Given the description of an element on the screen output the (x, y) to click on. 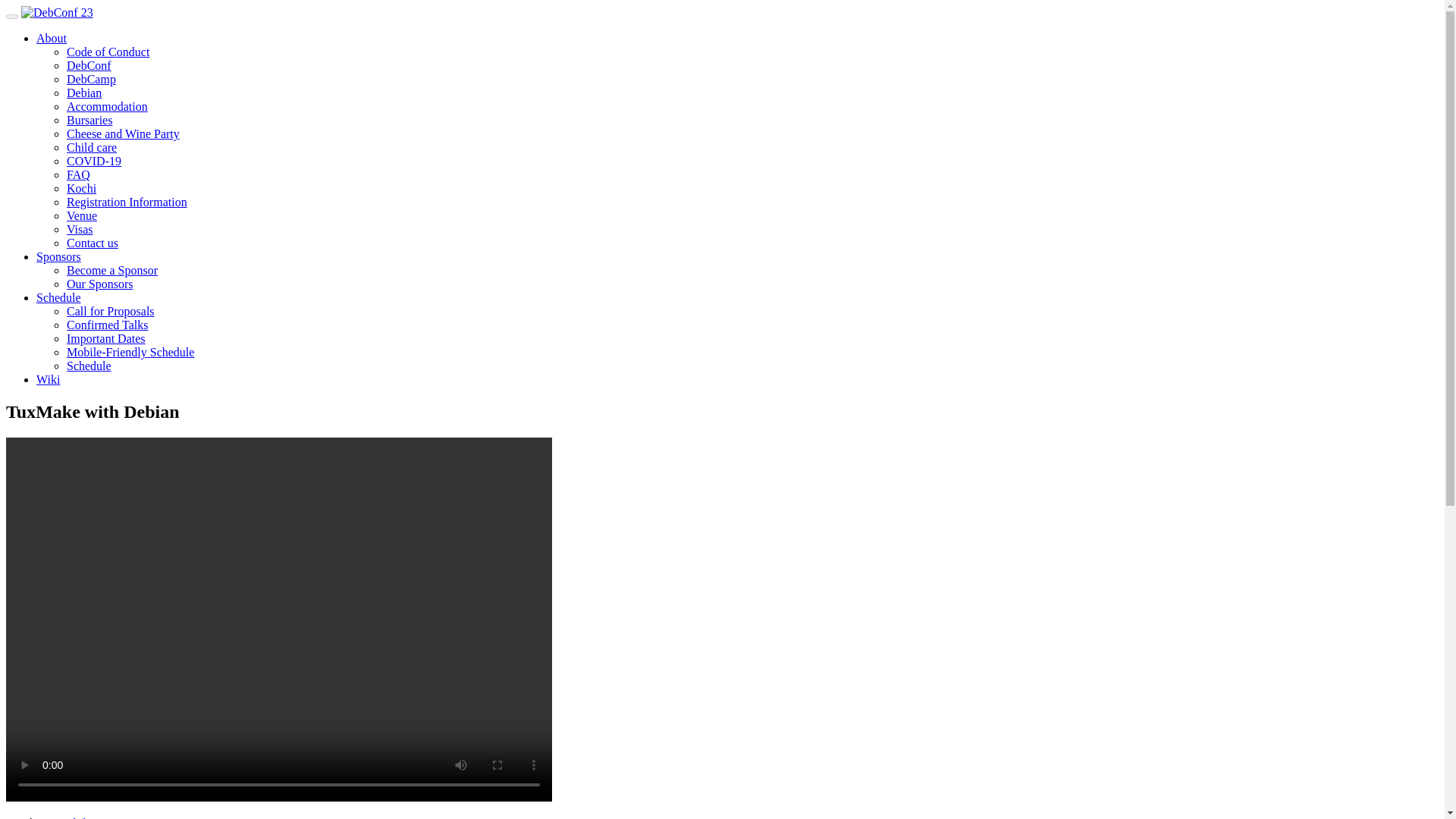
Registration Information (126, 201)
Confirmed Talks (107, 324)
Bursaries (89, 119)
Our Sponsors (99, 283)
Senthil Kumaran S (97, 817)
Visas (79, 228)
Mobile-Friendly Schedule (129, 351)
Venue (81, 215)
Schedule (89, 365)
DebCamp (91, 78)
